Given the description of an element on the screen output the (x, y) to click on. 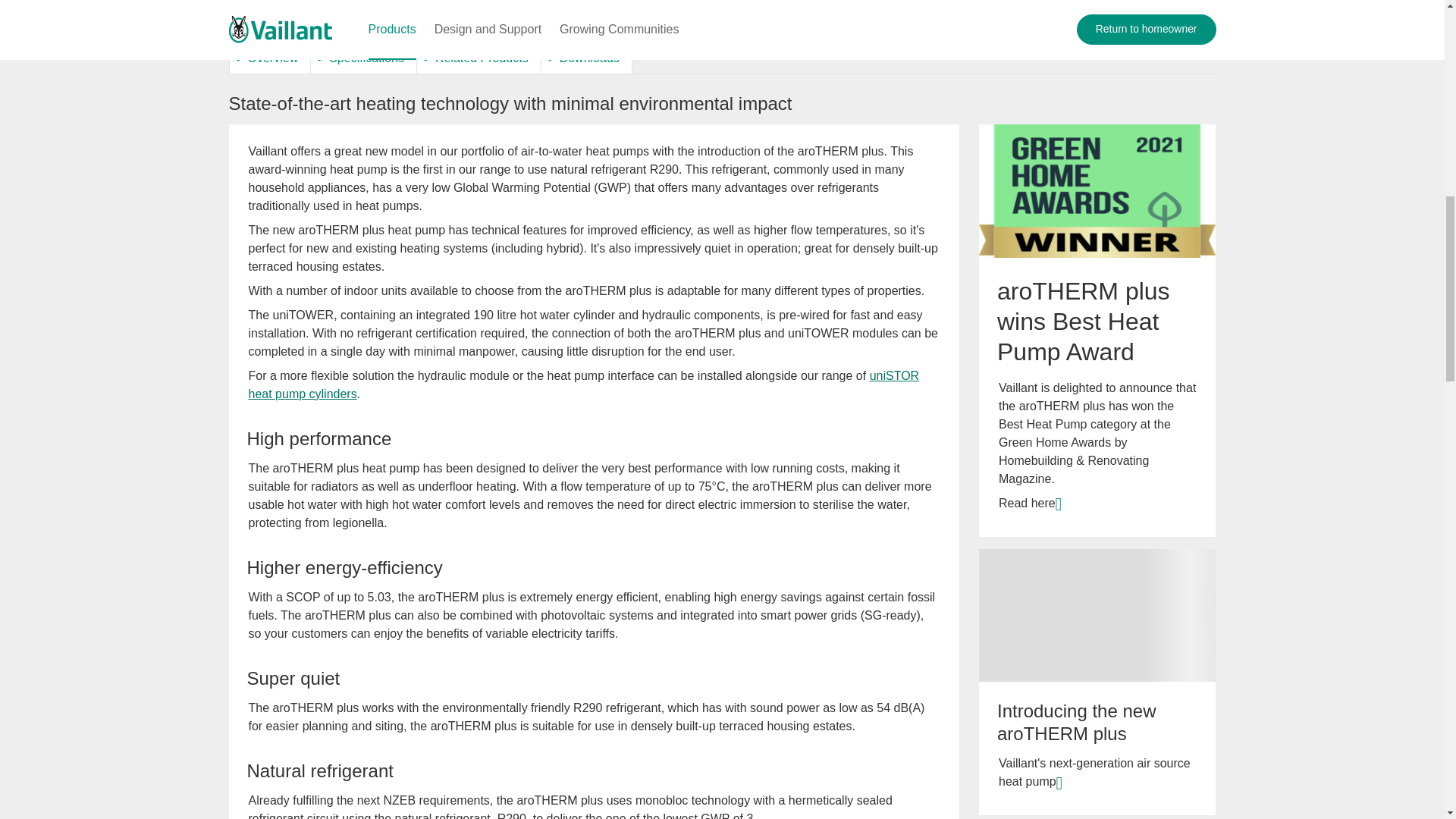
General information of this product (269, 57)
See related products (478, 57)
See the specification for this product (363, 57)
Find manuals and related brochures (585, 57)
